Given the description of an element on the screen output the (x, y) to click on. 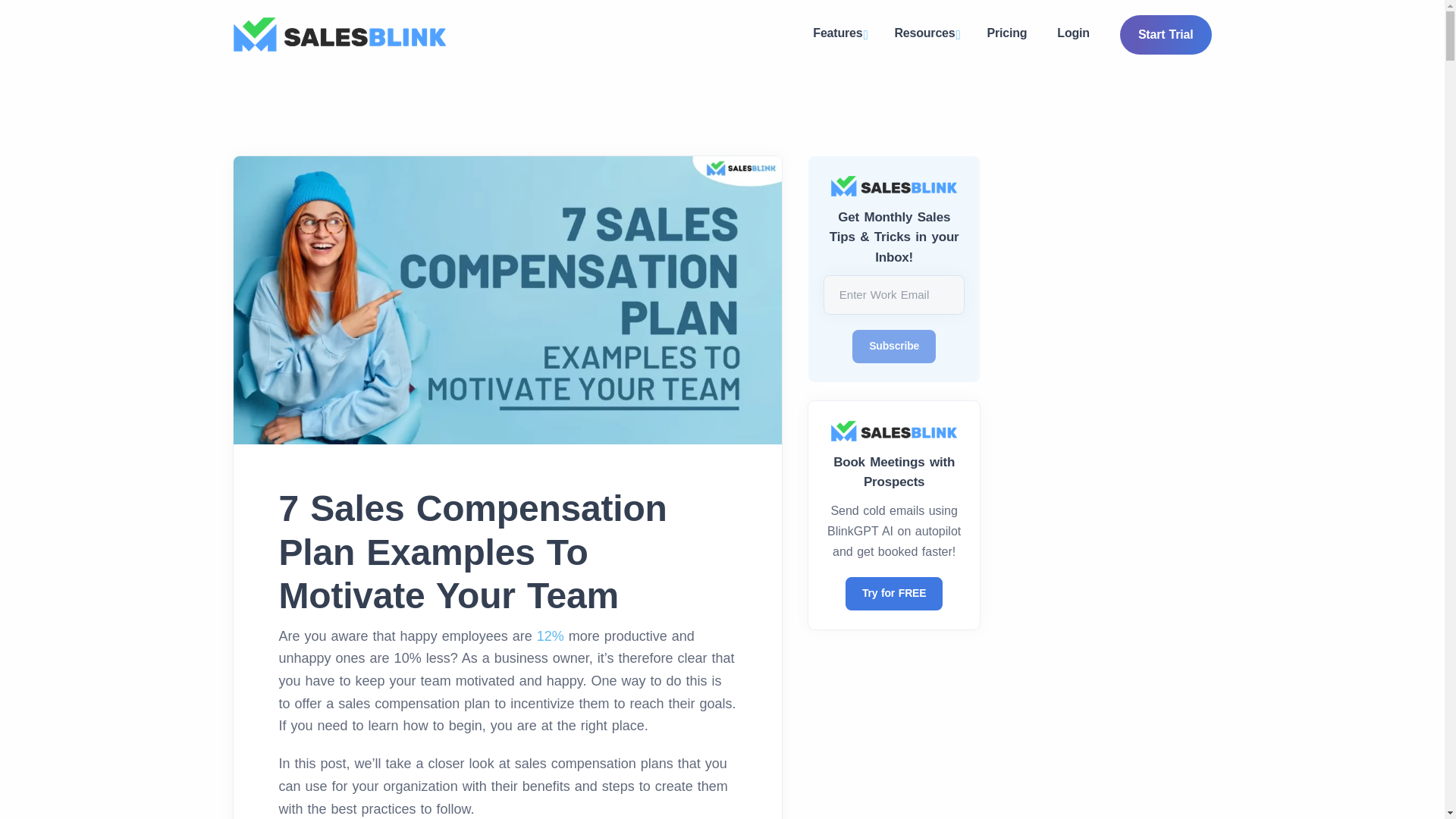
Resources (925, 34)
Login (1073, 32)
Pricing (1007, 32)
Subscribe (893, 346)
Try for FREE (893, 593)
SalesBlink Logo (338, 34)
Start Trial (1165, 34)
Features (838, 34)
